Given the description of an element on the screen output the (x, y) to click on. 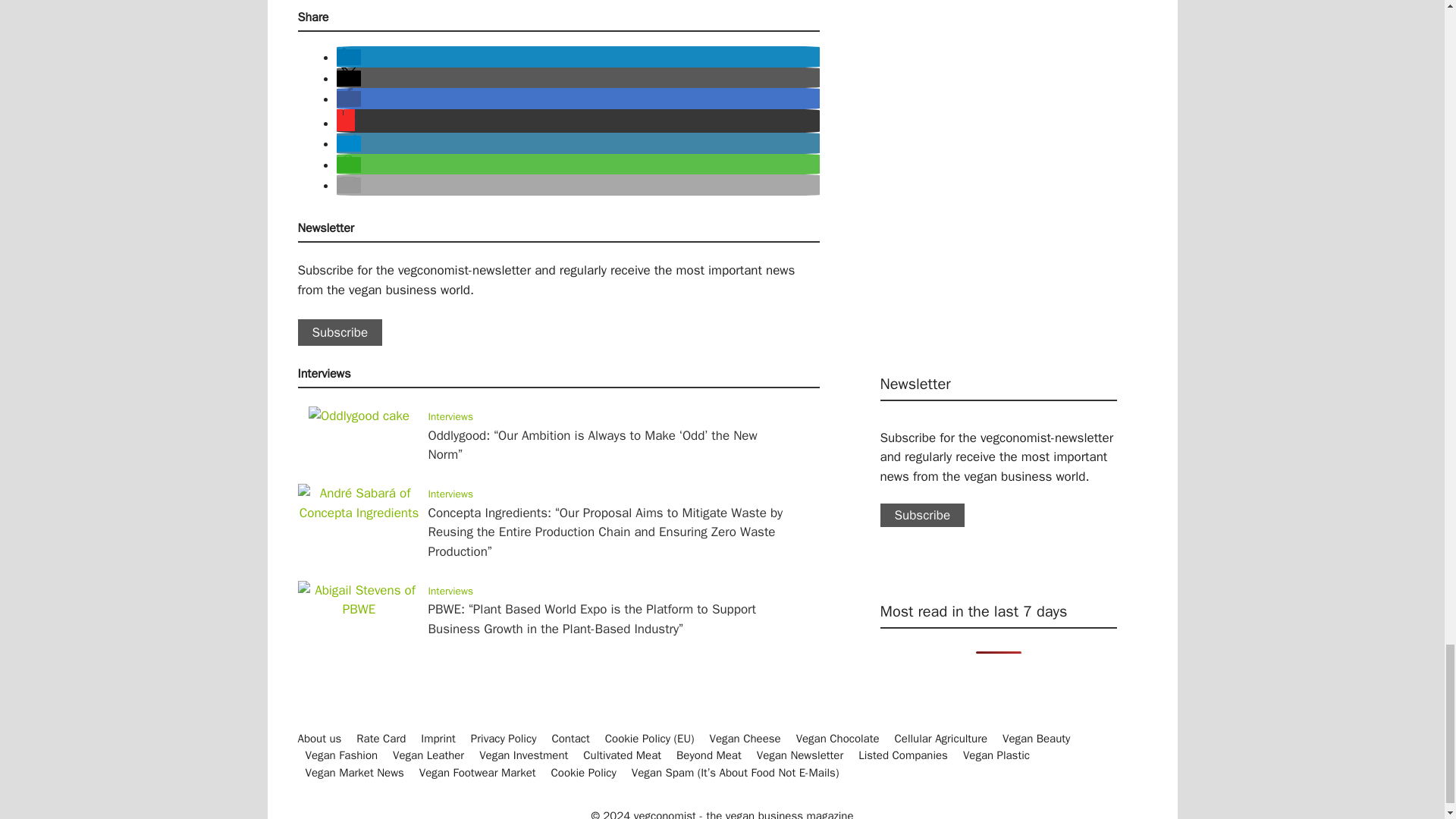
Send by email (348, 185)
Share on LinkedIn (348, 57)
Share on Telegram (348, 143)
Share on Flipboard (345, 123)
Share on Whatsapp (348, 164)
Share on Facebook (348, 98)
Share on X (348, 78)
